Given the description of an element on the screen output the (x, y) to click on. 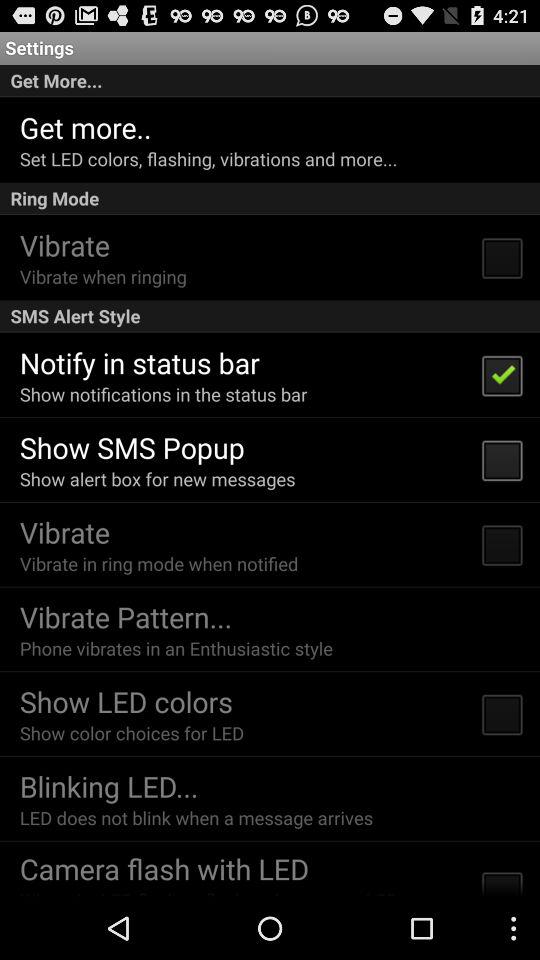
open the icon below vibrate when ringing (270, 316)
